Given the description of an element on the screen output the (x, y) to click on. 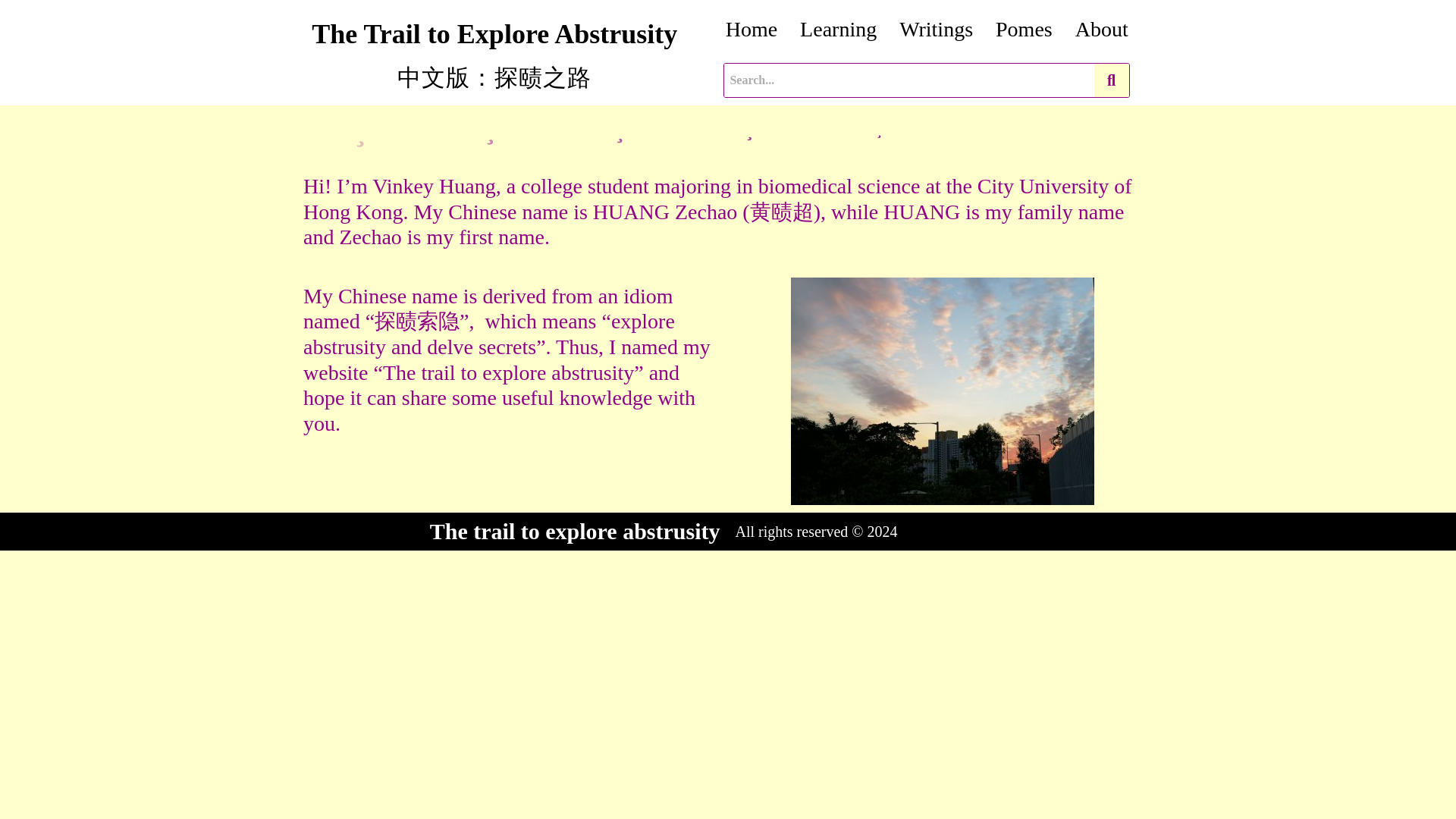
Pomes (1024, 29)
The Trail to Explore Abstrusity (493, 33)
The trail to explore abstrusity (574, 530)
Writings (936, 29)
Search (908, 80)
Home (751, 29)
Learning (838, 29)
About (1102, 29)
